Given the description of an element on the screen output the (x, y) to click on. 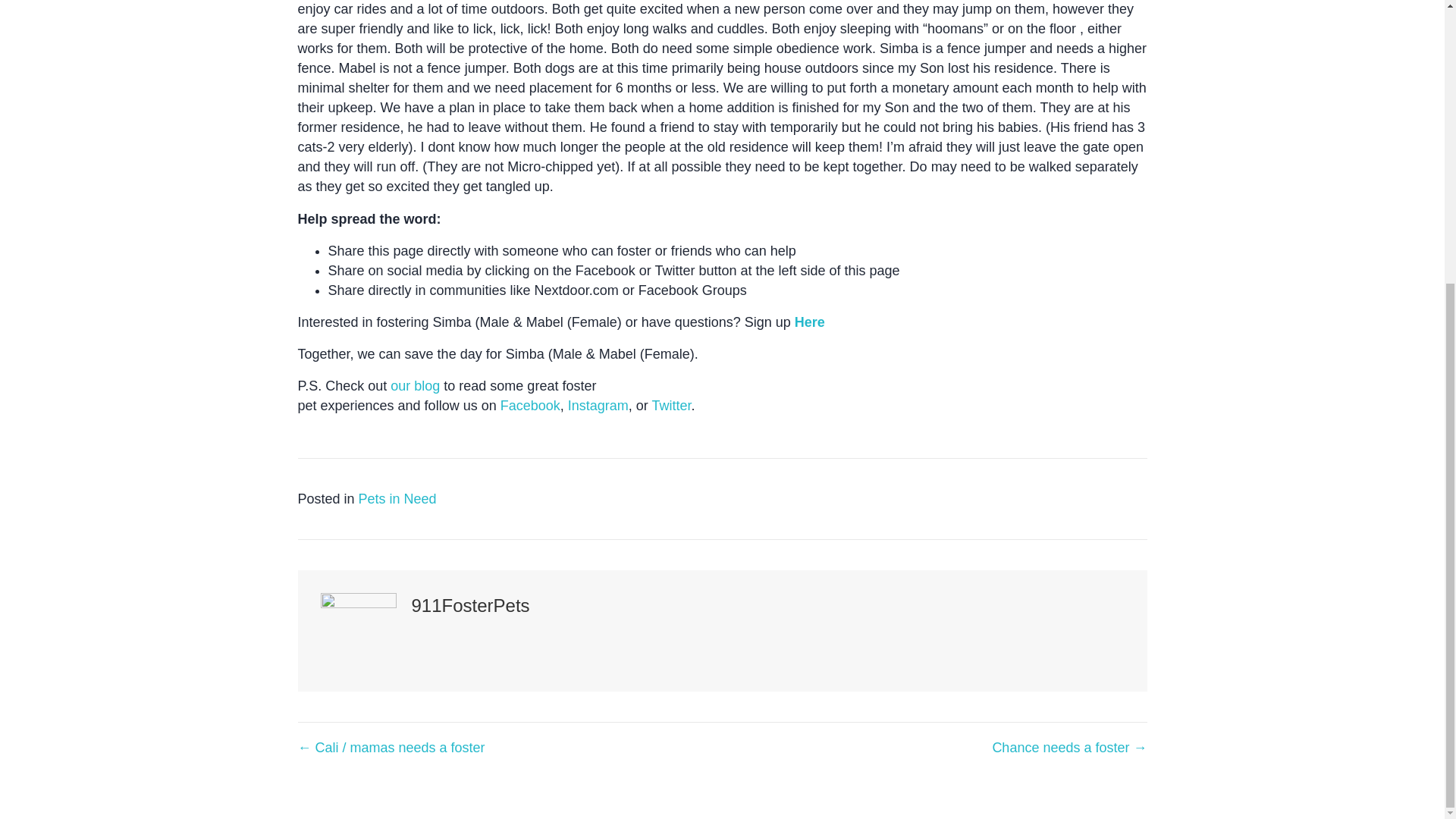
Facebook (530, 405)
Instagram (597, 405)
Twitter (670, 405)
Instagram (597, 405)
Pets in Need (397, 498)
our blog (414, 385)
our blog (414, 385)
Twitter (670, 405)
Here (809, 322)
Facebook (530, 405)
